Given the description of an element on the screen output the (x, y) to click on. 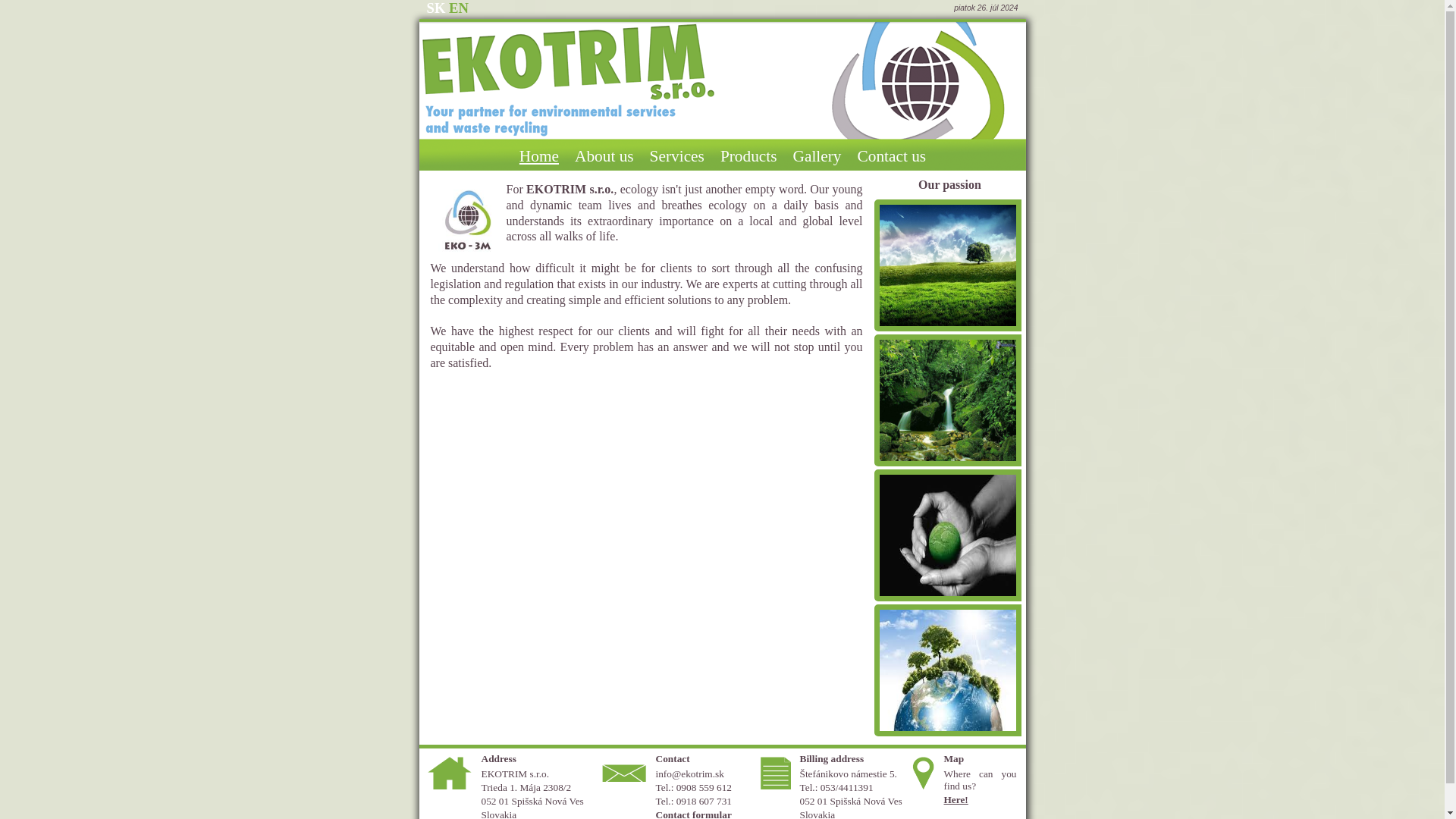
About us (604, 156)
Home (539, 156)
Contact formular (692, 814)
SK (435, 7)
Contact us (890, 156)
EN (458, 7)
Here! (955, 799)
Gallery (817, 156)
Services (676, 156)
Products (748, 156)
